Given the description of an element on the screen output the (x, y) to click on. 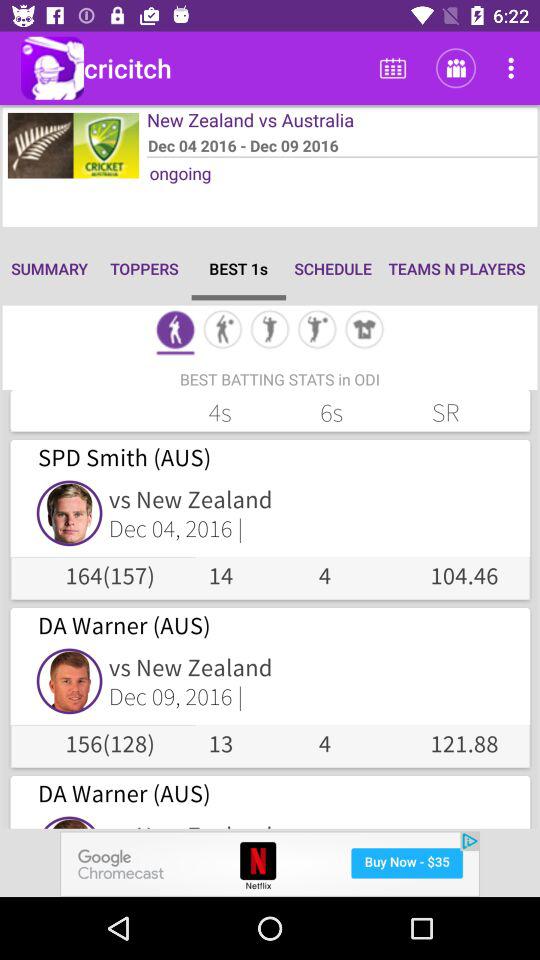
chromecast advertisement button (270, 864)
